Given the description of an element on the screen output the (x, y) to click on. 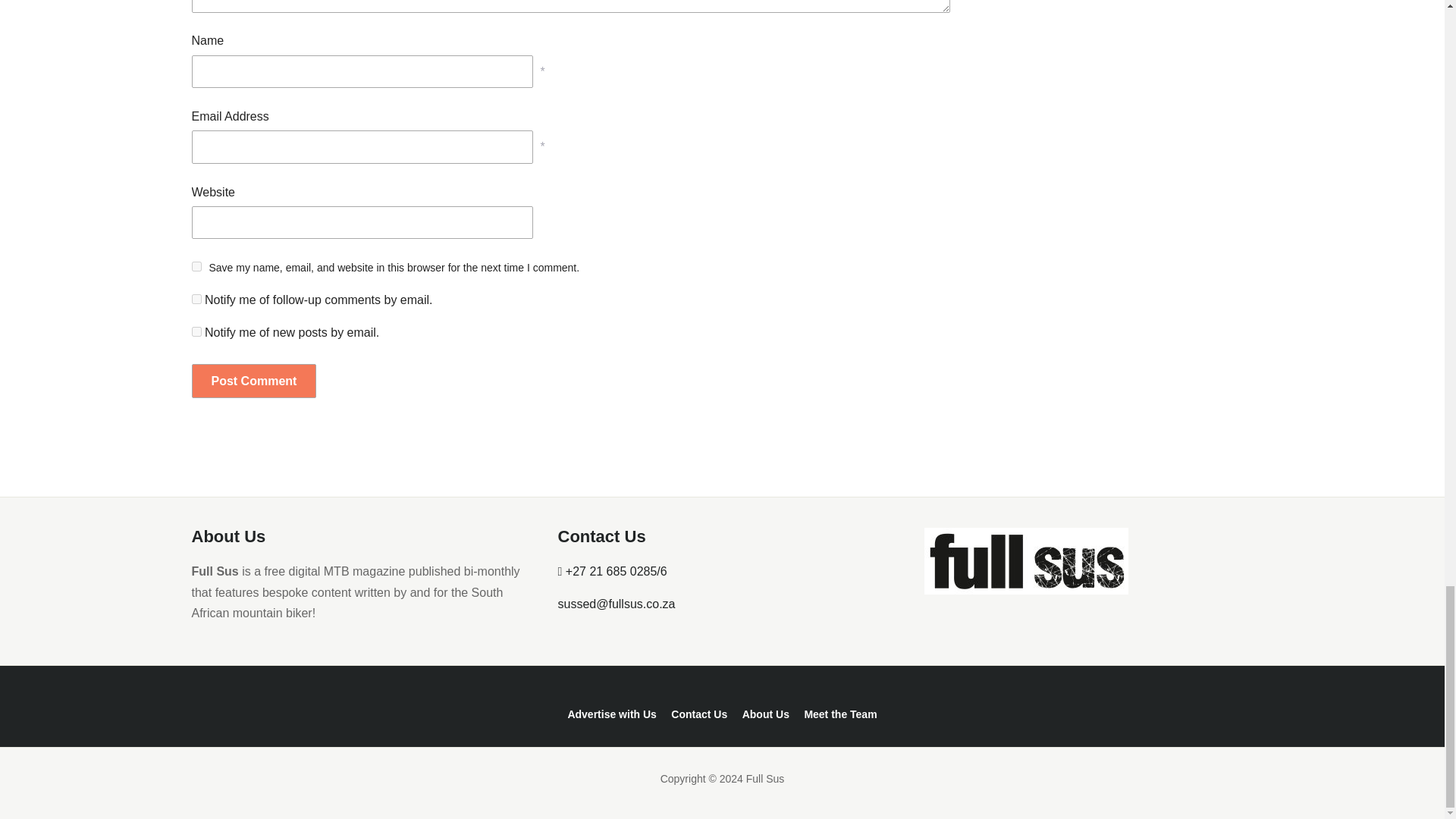
subscribe (195, 331)
yes (195, 266)
subscribe (195, 298)
Post Comment (252, 380)
